Given the description of an element on the screen output the (x, y) to click on. 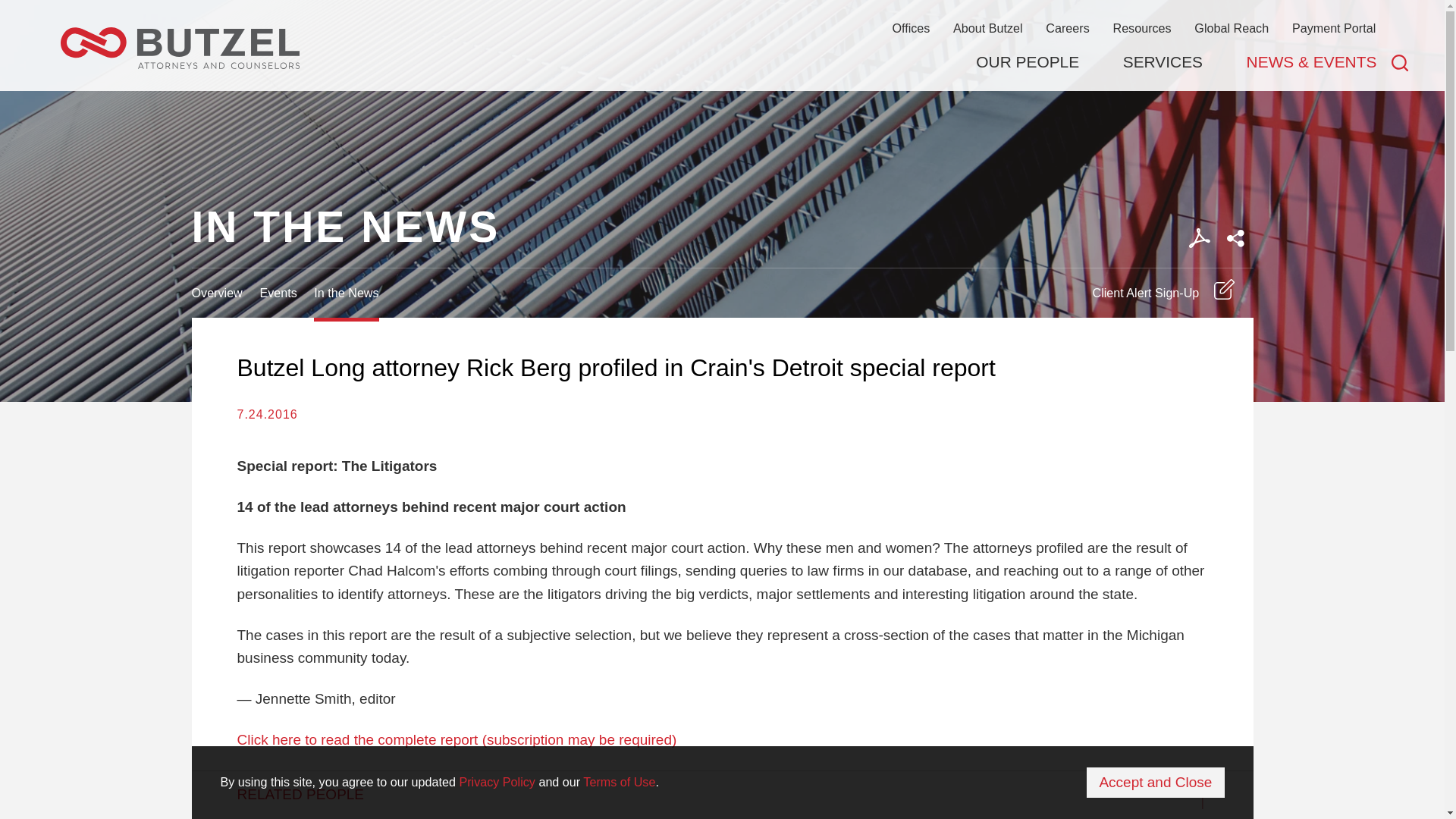
Share (1235, 238)
Main Content (667, 19)
OUR PEOPLE (1026, 61)
Menu (674, 19)
Main Menu (674, 19)
Search (1399, 62)
SERVICES (1162, 61)
